Given the description of an element on the screen output the (x, y) to click on. 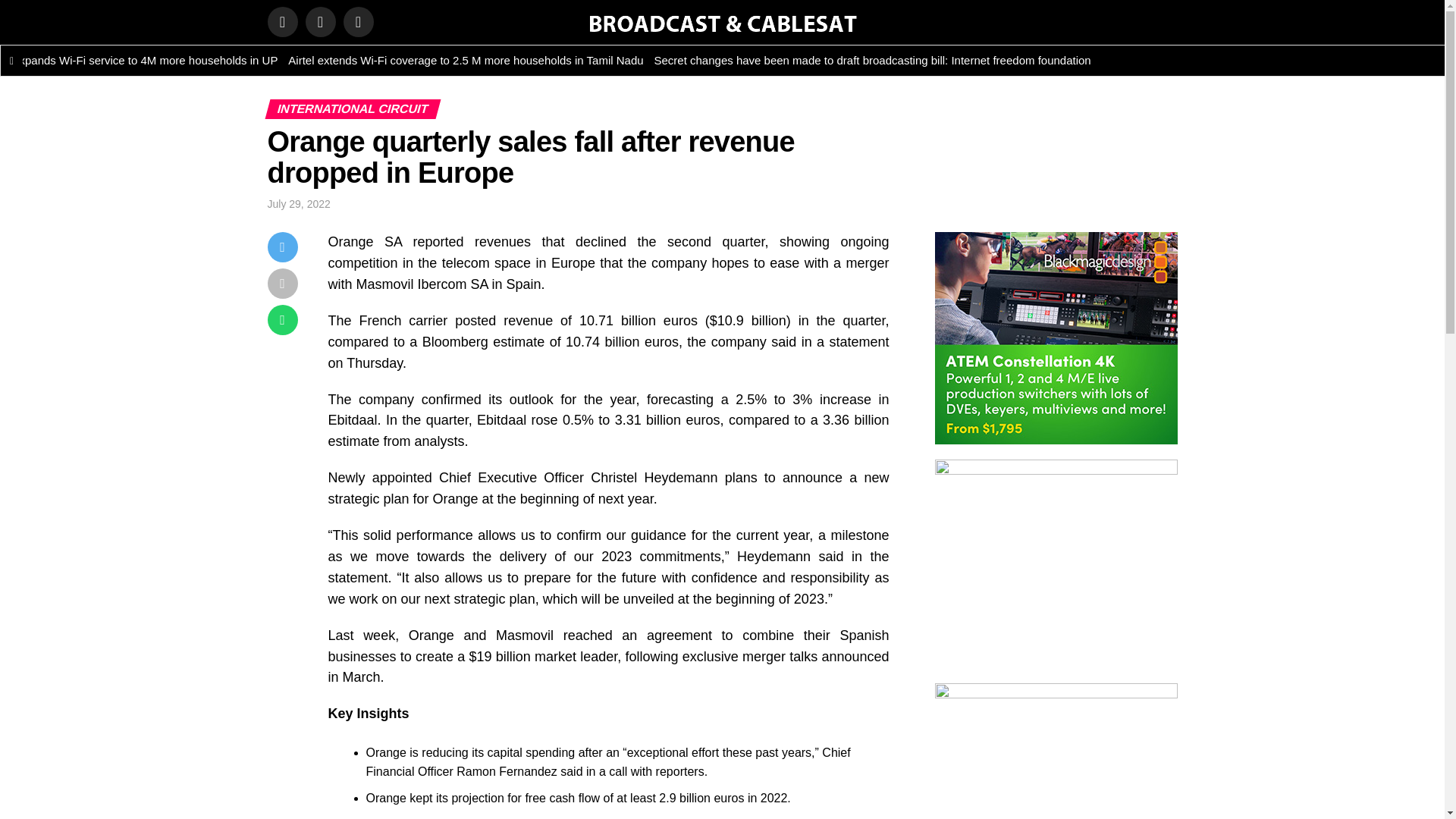
Airtel expands Wi-Fi service to 4M more households in UP (146, 60)
